Given the description of an element on the screen output the (x, y) to click on. 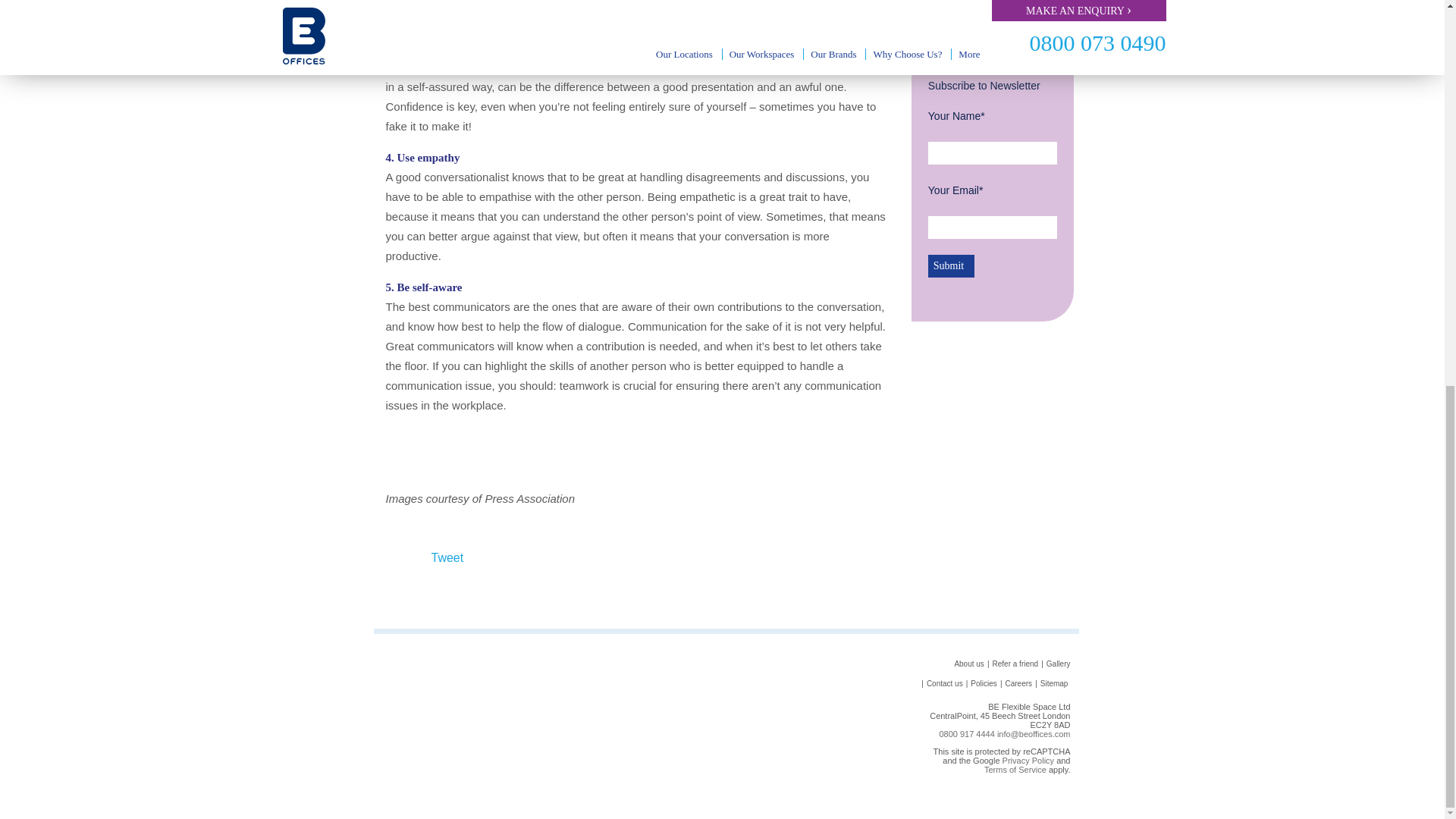
Submit (951, 265)
